Given the description of an element on the screen output the (x, y) to click on. 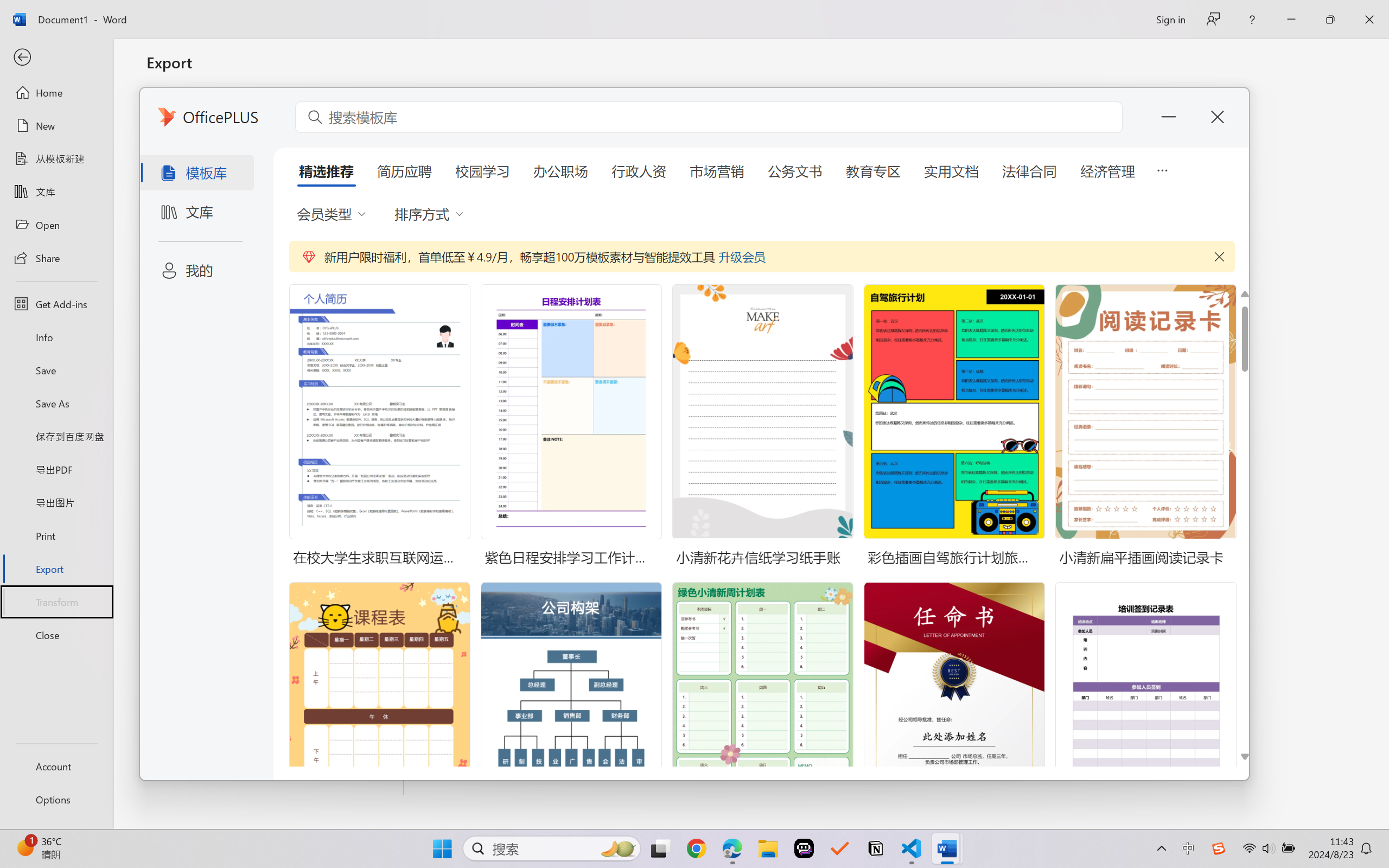
Info (56, 337)
Back (56, 57)
Send documents to Kindle (275, 205)
